Given the description of an element on the screen output the (x, y) to click on. 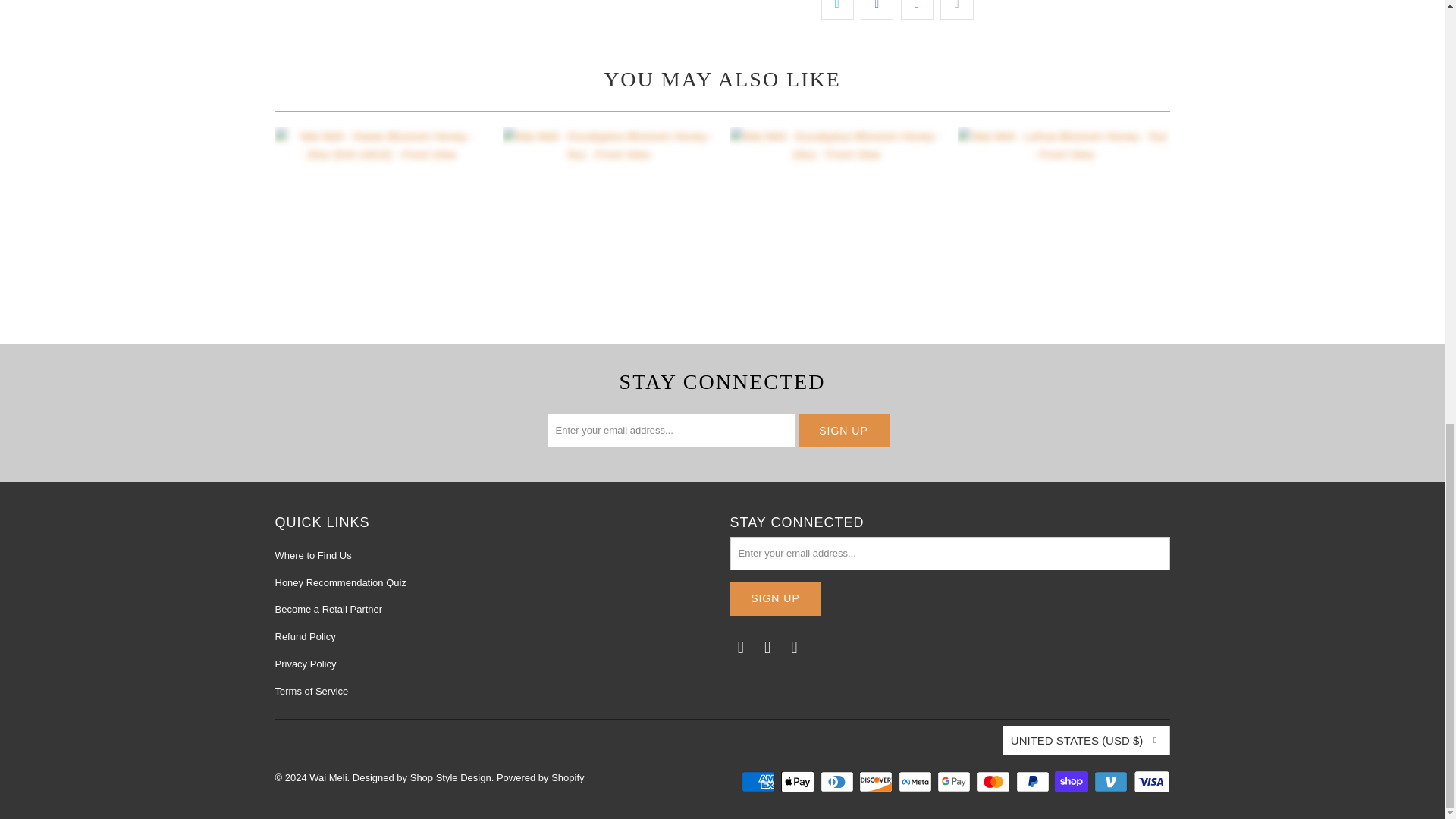
Meta Pay (916, 781)
Email this to a friend (956, 9)
American Express (759, 781)
Shop Pay (1072, 781)
Email Wai Meli  (740, 647)
Visa (1150, 781)
Apple Pay (798, 781)
Share this on Twitter (837, 9)
Share this on Pinterest (917, 9)
Google Pay (955, 781)
